Given the description of an element on the screen output the (x, y) to click on. 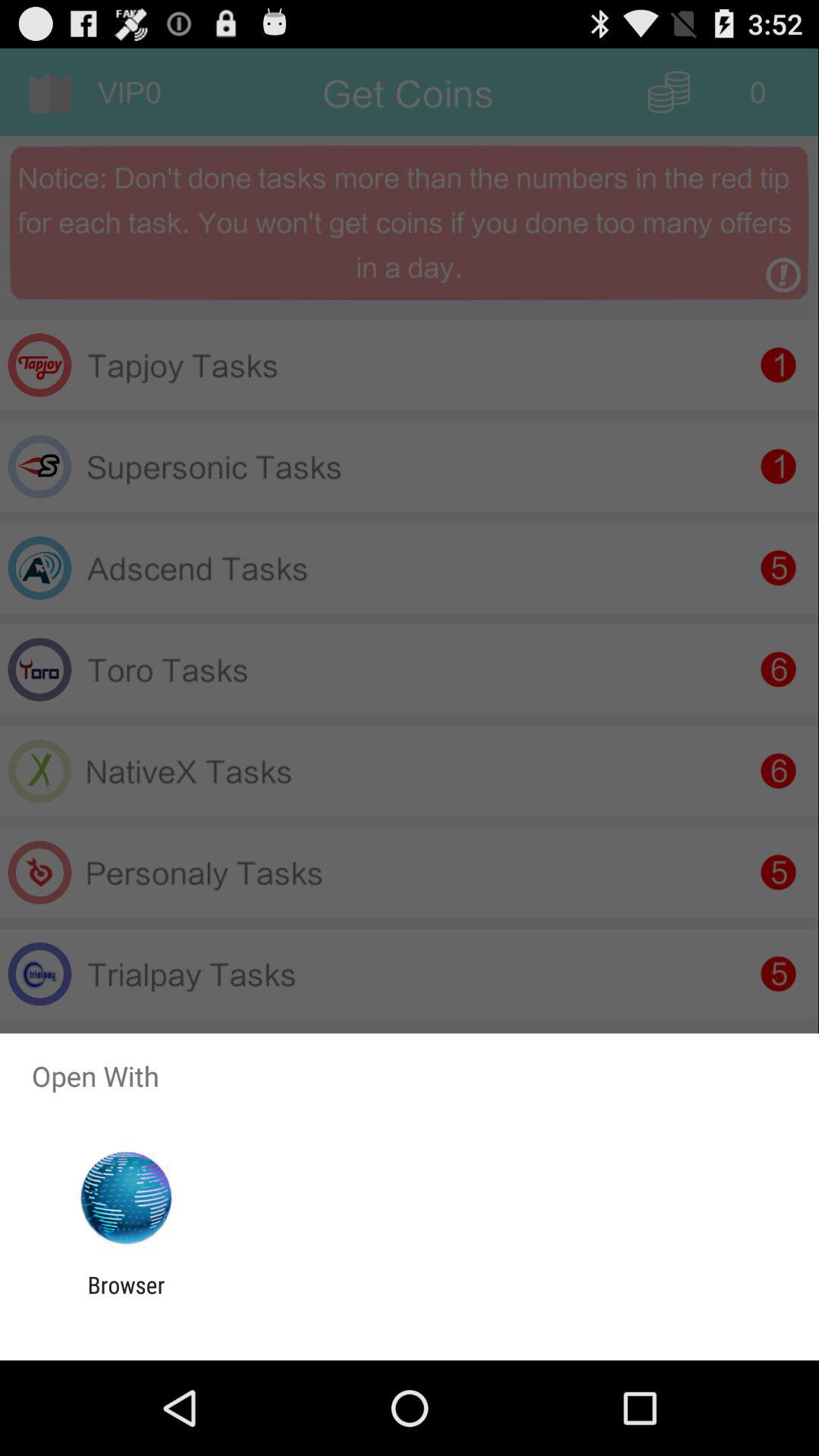
flip until browser icon (125, 1298)
